Given the description of an element on the screen output the (x, y) to click on. 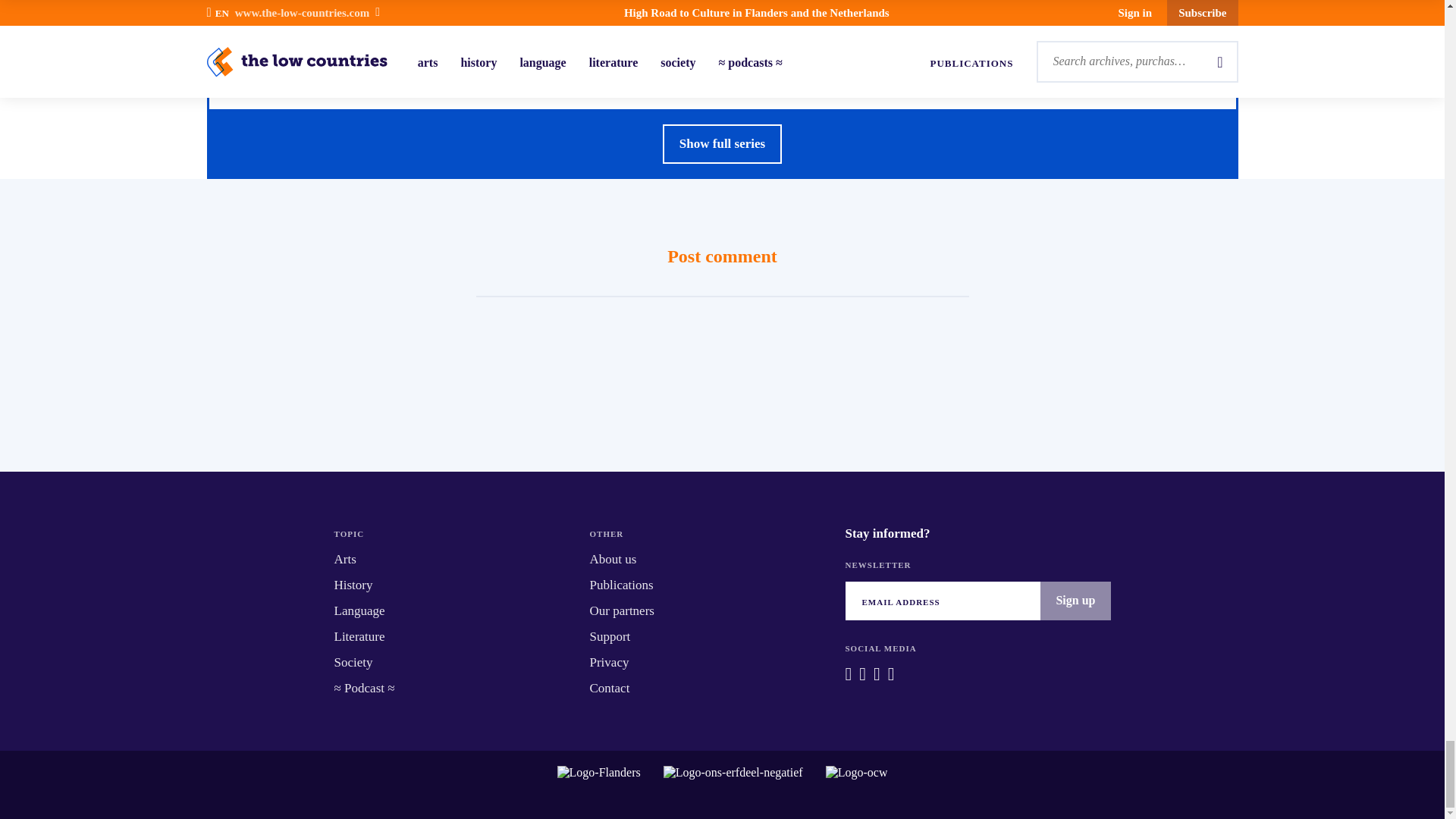
Logo-Flanders (598, 784)
Sign up (1075, 600)
Logo-ocw (856, 784)
Logo-ons-erfdeel-negatief (733, 784)
